Given the description of an element on the screen output the (x, y) to click on. 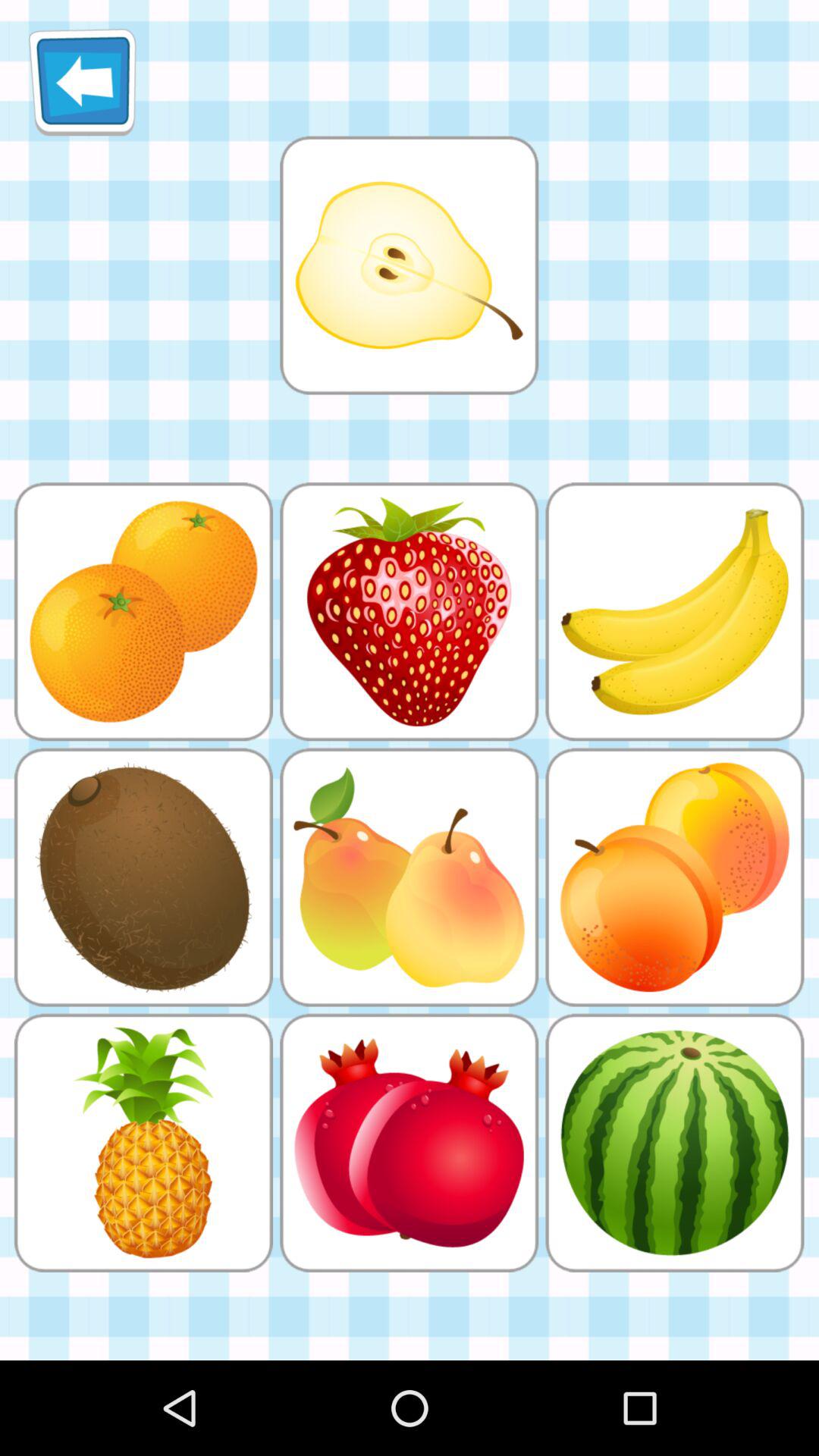
back (82, 82)
